Given the description of an element on the screen output the (x, y) to click on. 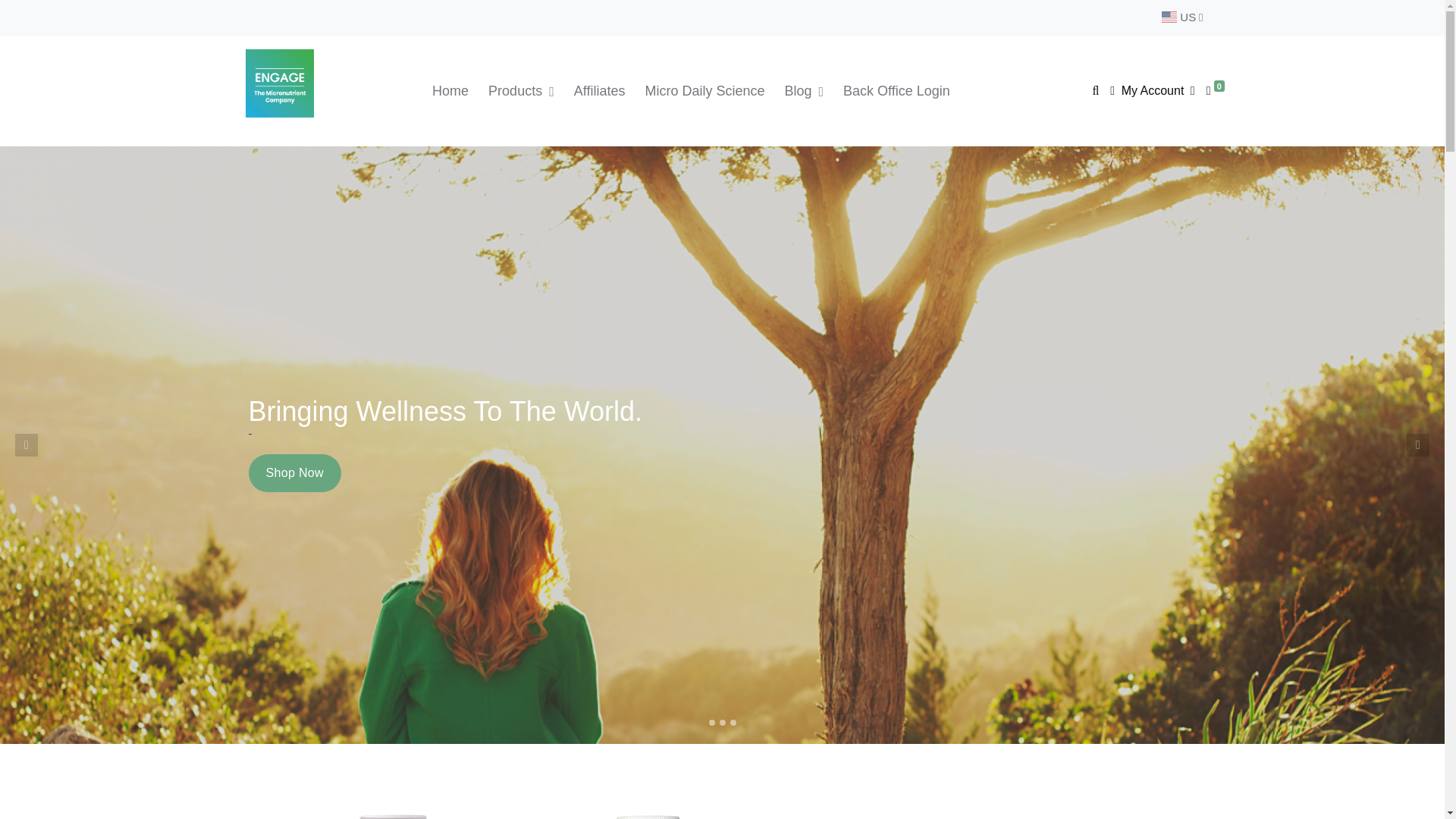
Shop Now (294, 473)
Products (520, 90)
US  United States (1182, 17)
Affiliates (599, 90)
My Account (1151, 89)
US (1182, 17)
Previous (25, 445)
Micro Daily Science (704, 90)
Home (450, 90)
Next (1417, 445)
Blog (803, 90)
Back Office Login (896, 90)
